Given the description of an element on the screen output the (x, y) to click on. 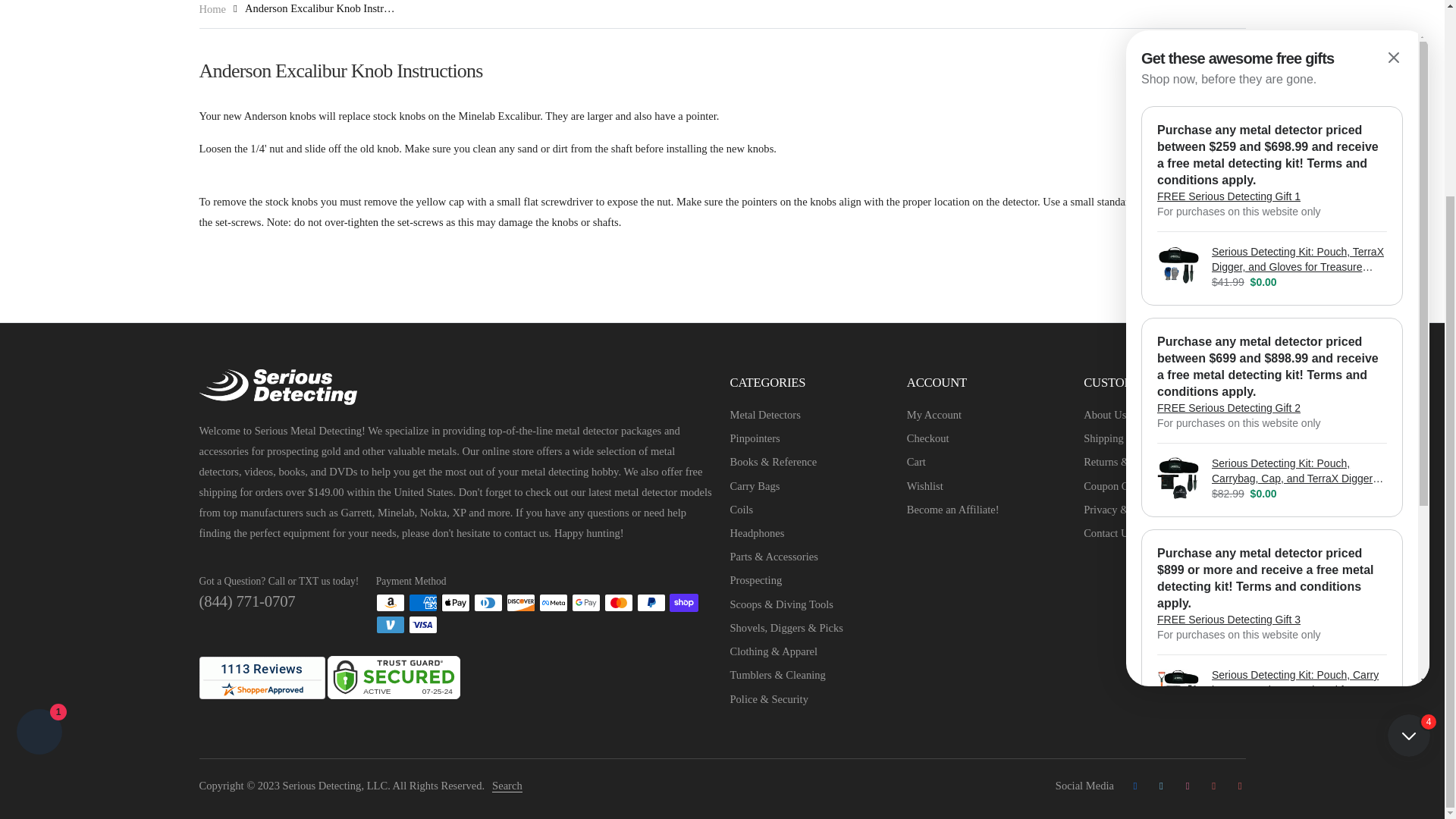
Shop Pay (683, 602)
Diners Club (488, 602)
Amazon (389, 602)
Mastercard (618, 602)
PayPal (651, 602)
Discover (520, 602)
American Express (423, 602)
Venmo (389, 624)
Apple Pay (455, 602)
Home (211, 9)
Google Pay (585, 602)
Meta Pay (552, 602)
Visa (423, 624)
Shopify online store chat (38, 485)
